Given the description of an element on the screen output the (x, y) to click on. 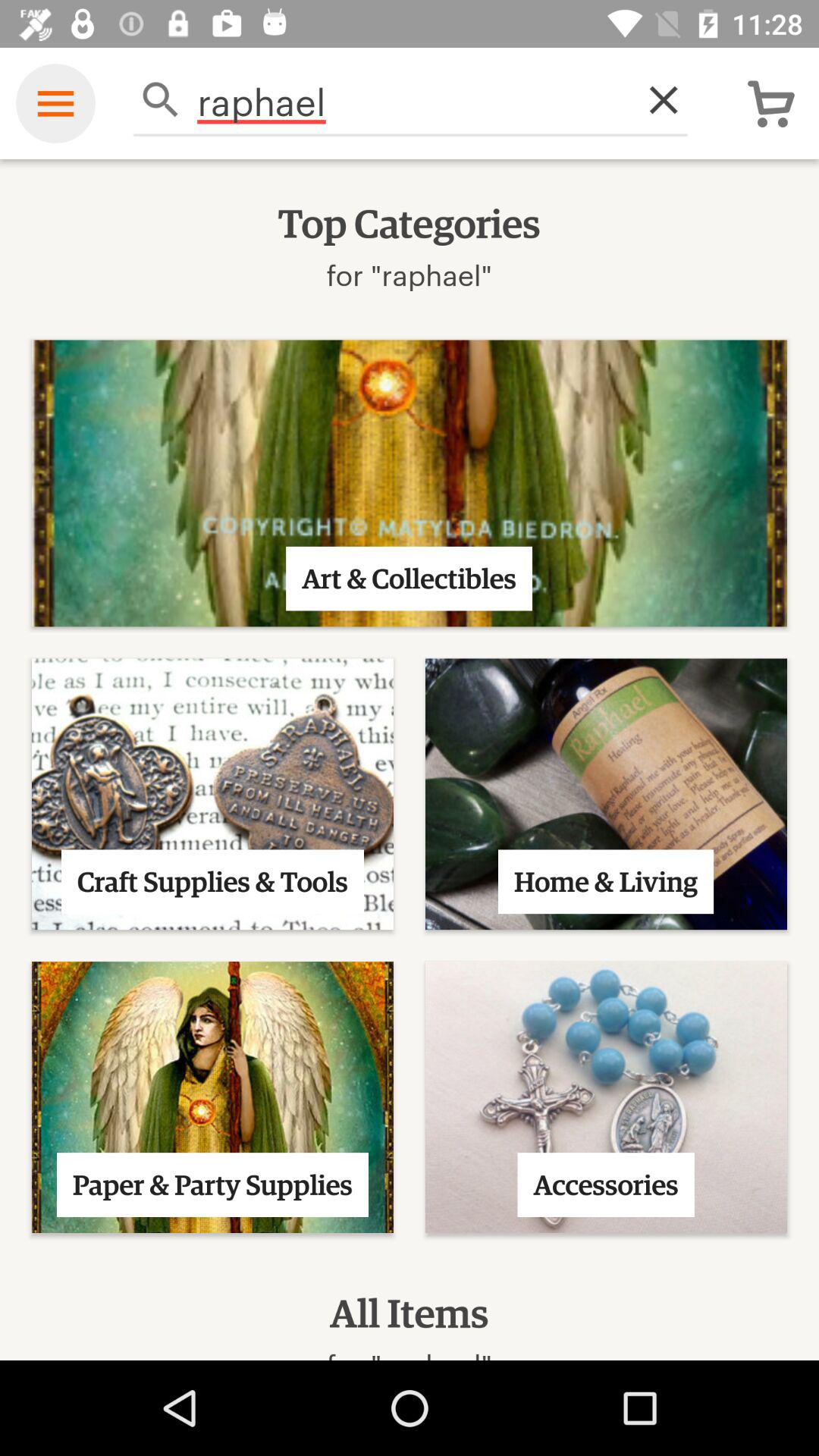
press the item to the right of raphael icon (655, 99)
